Given the description of an element on the screen output the (x, y) to click on. 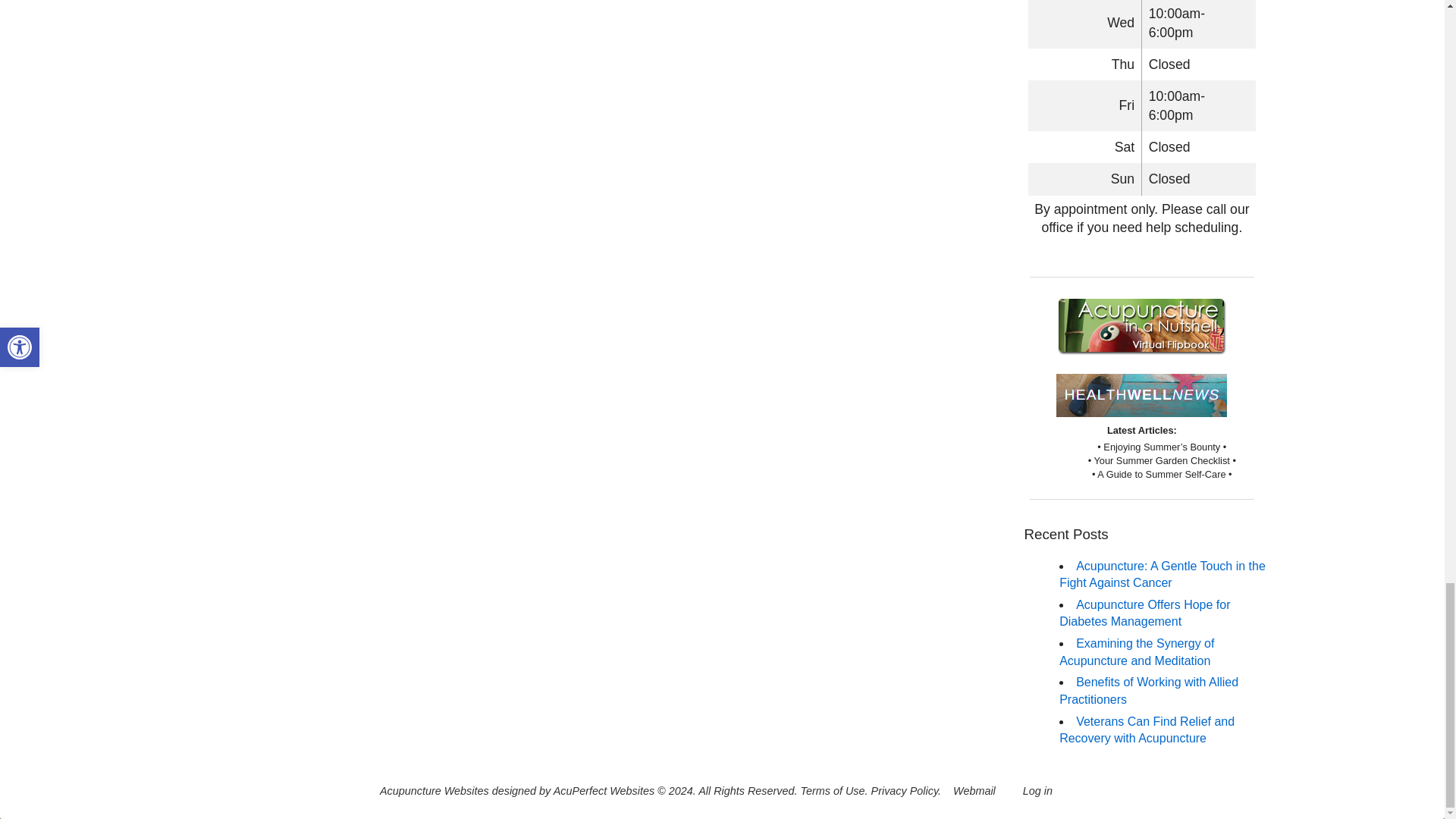
Acupuncture Websites (434, 790)
